Given the description of an element on the screen output the (x, y) to click on. 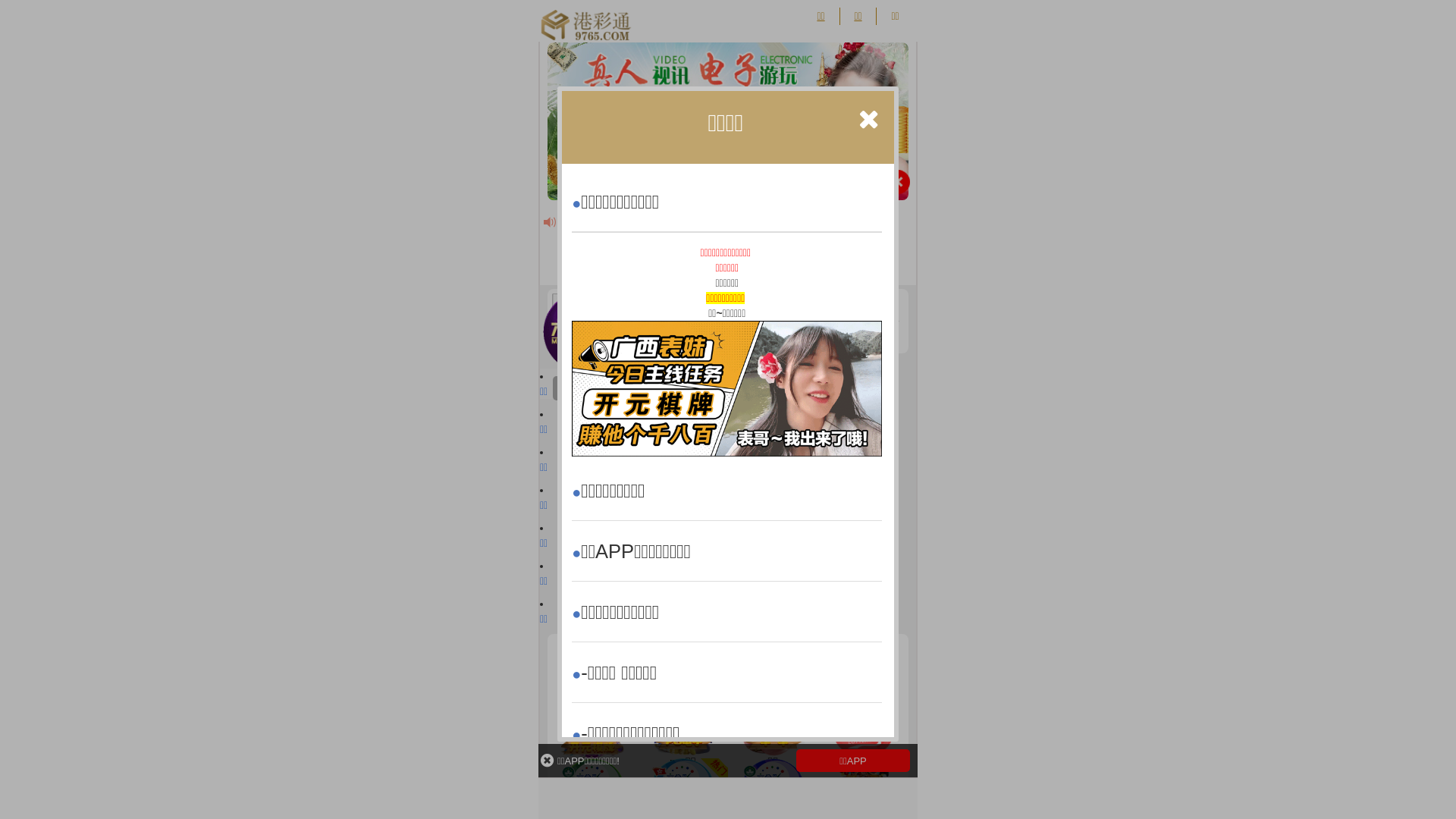
1700228965207625.gif Element type: hover (726, 388)
